Given the description of an element on the screen output the (x, y) to click on. 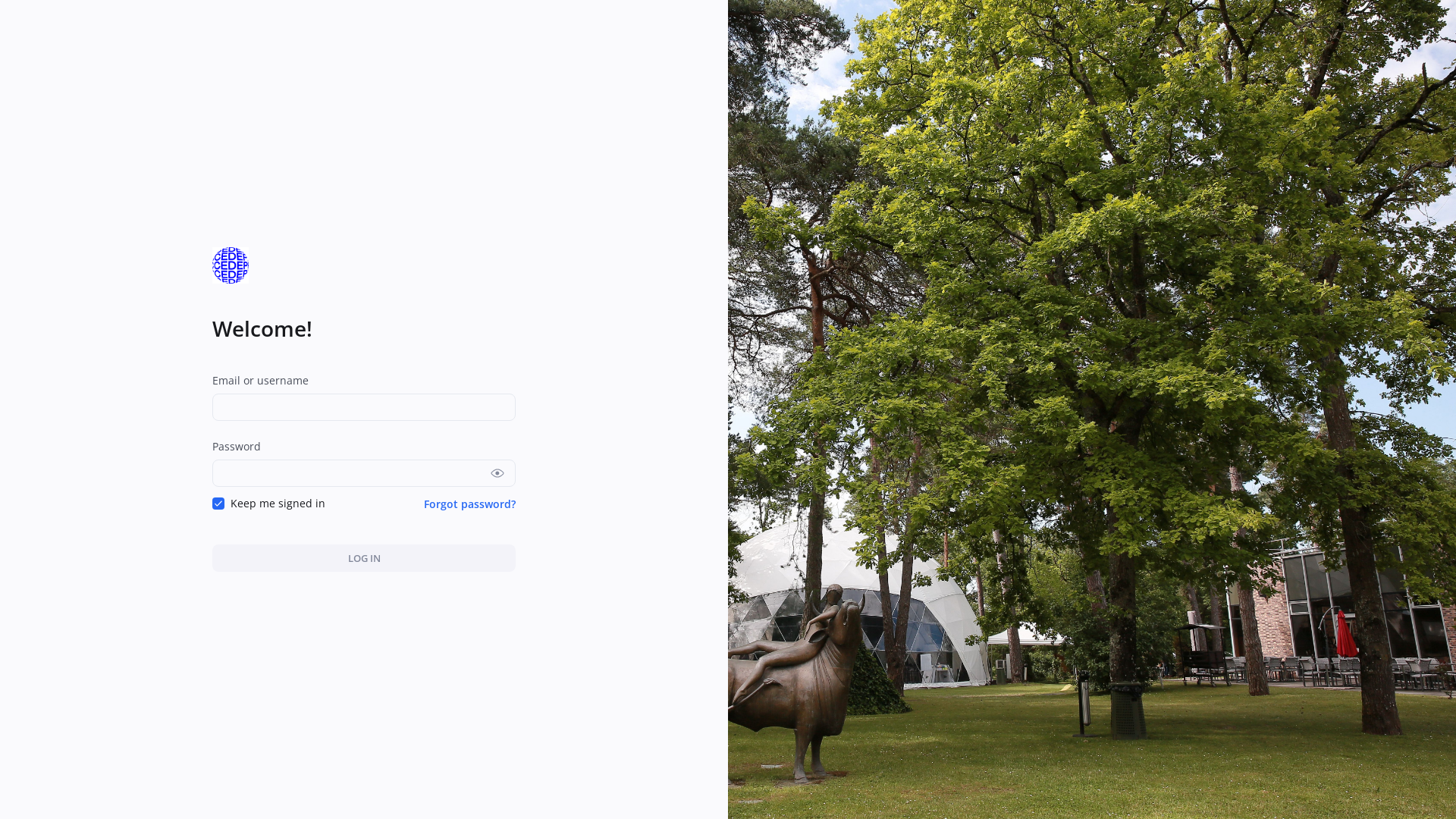
Forgot password? Element type: text (469, 502)
LOG IN Element type: text (363, 557)
